Given the description of an element on the screen output the (x, y) to click on. 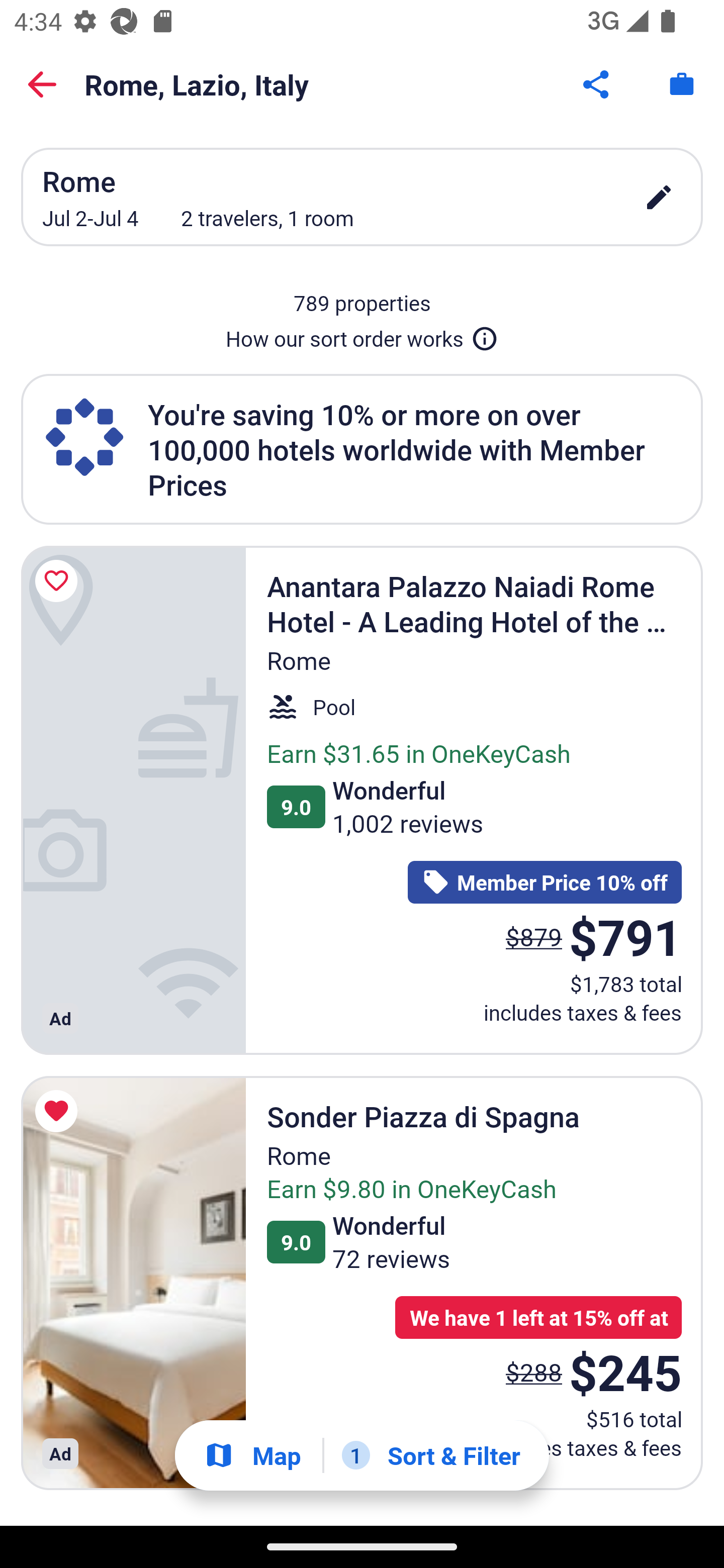
Back (42, 84)
Share Button (597, 84)
Trips. Button (681, 84)
Rome Jul 2-Jul 4 2 travelers, 1 room edit (361, 196)
How our sort order works (361, 334)
$879 The price was $879 (533, 936)
Remove Sonder Piazza di Spagna from a trip (59, 1111)
Sonder Piazza di Spagna (133, 1282)
$288 The price was $288 (533, 1371)
1 Sort & Filter 1 Filter applied. Filters Button (430, 1455)
Show map Map Show map Button (252, 1455)
